Given the description of an element on the screen output the (x, y) to click on. 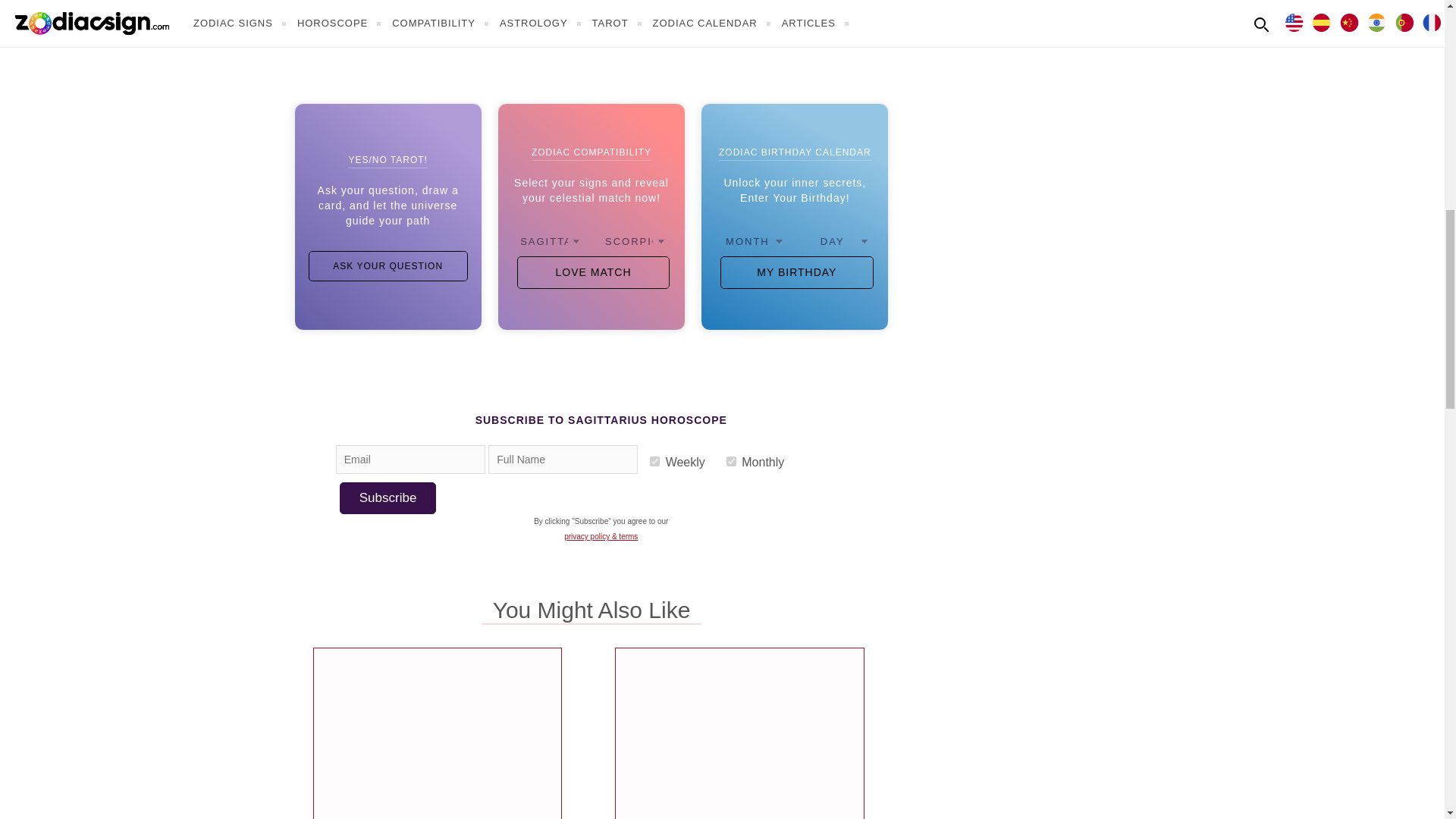
monthly (731, 461)
weekly (654, 461)
